Given the description of an element on the screen output the (x, y) to click on. 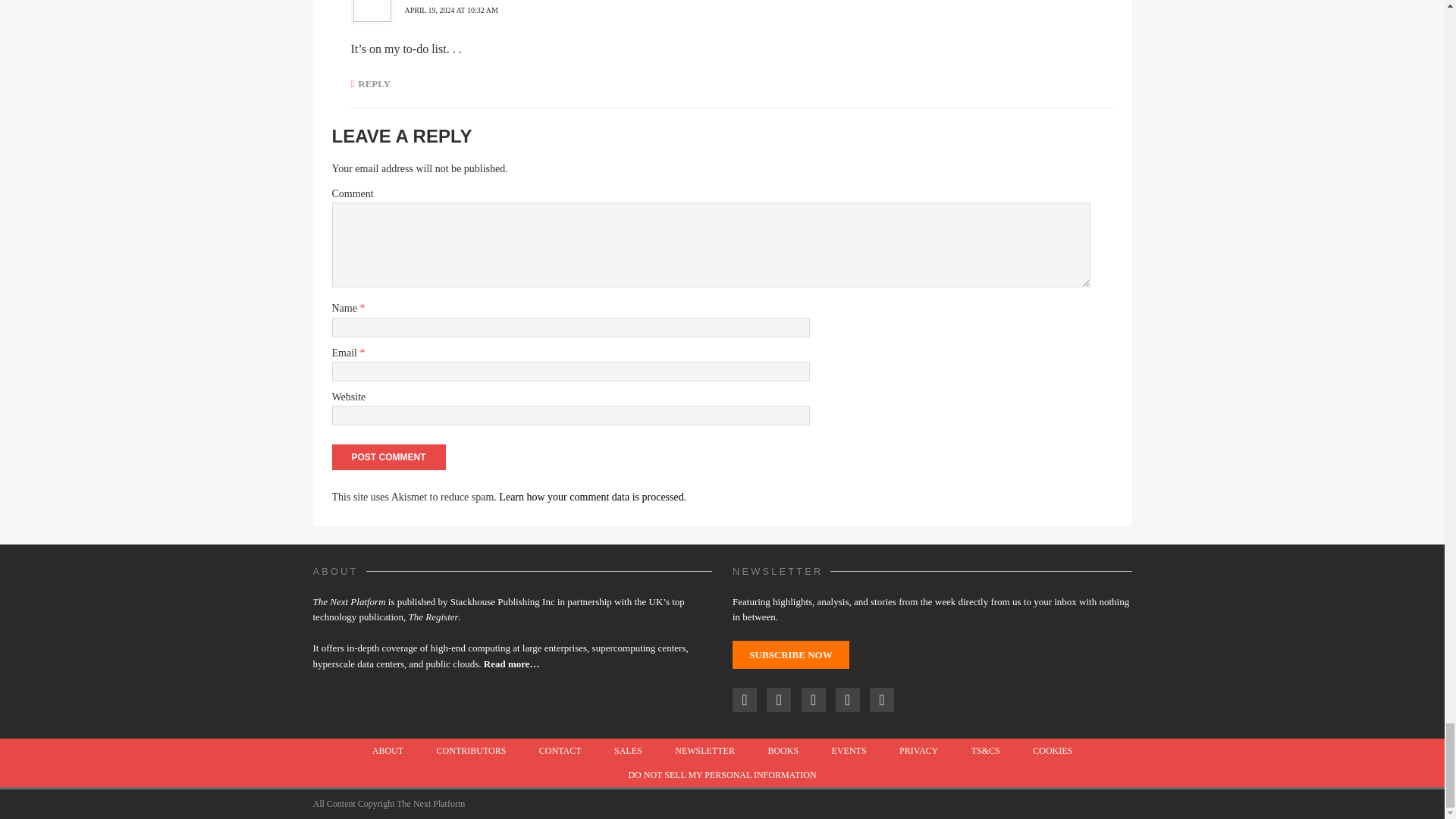
Post Comment (388, 457)
